Given the description of an element on the screen output the (x, y) to click on. 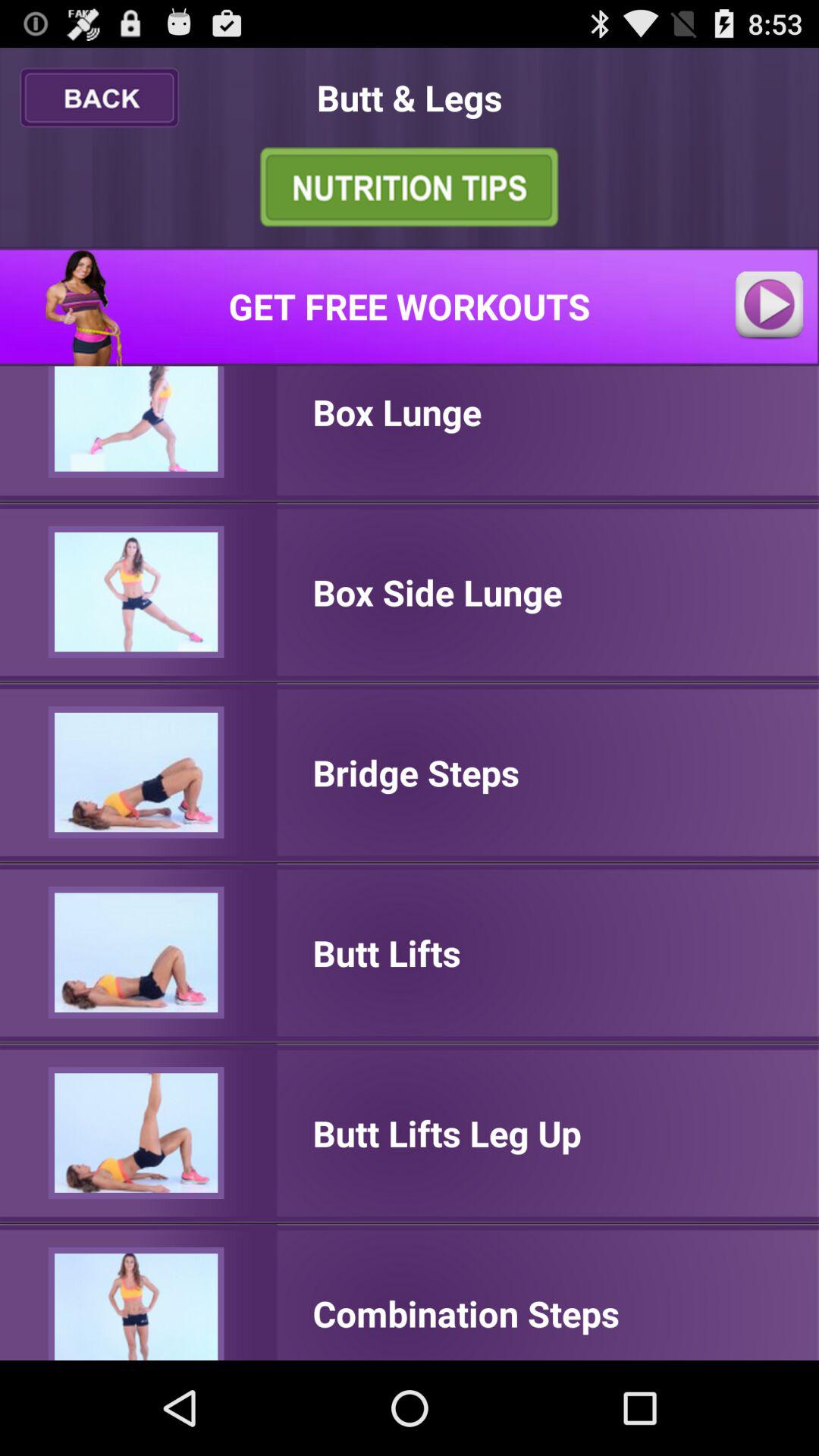
flip until combination steps (465, 1313)
